Given the description of an element on the screen output the (x, y) to click on. 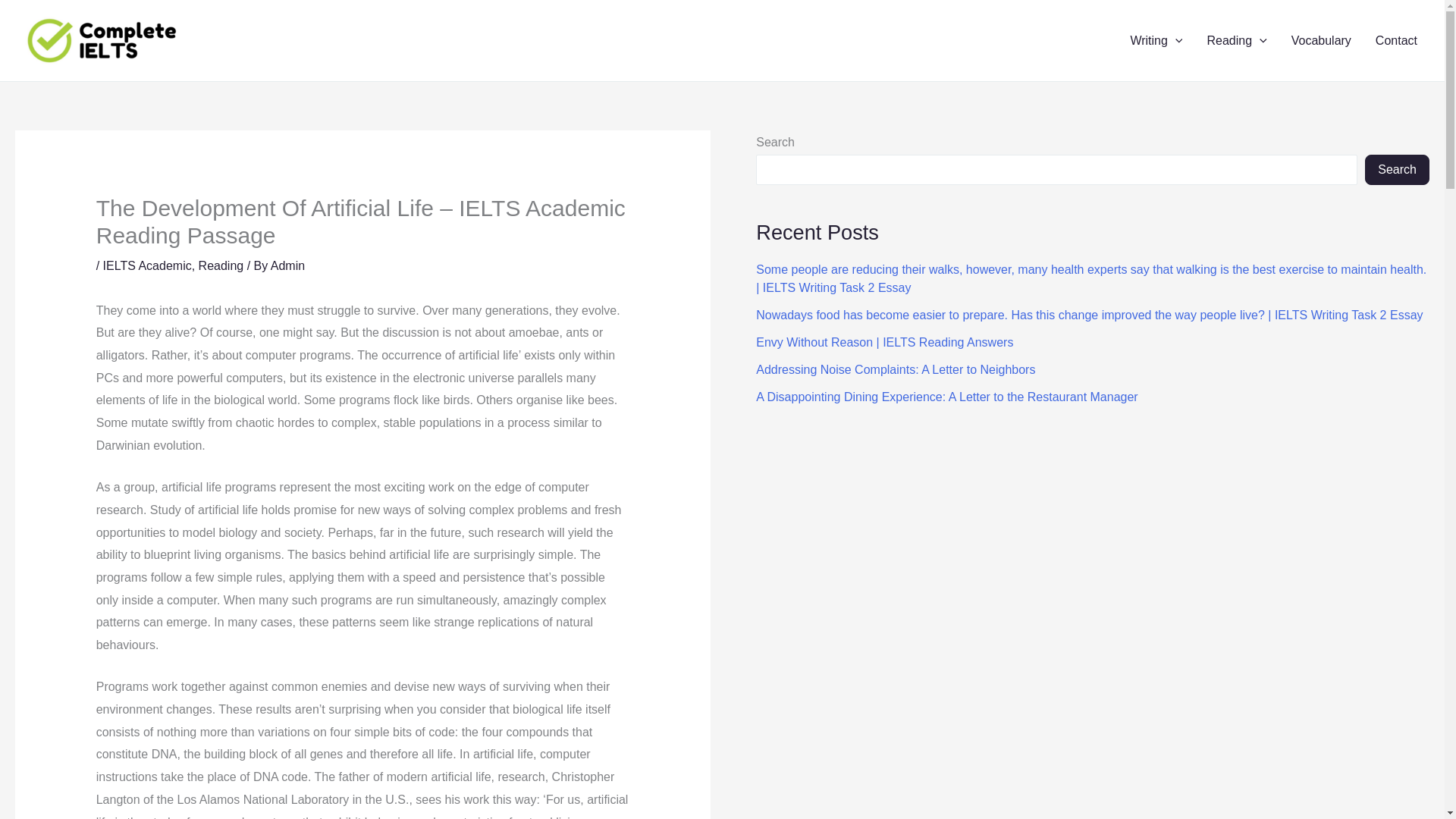
Writing (1155, 40)
View all posts by Admin (287, 265)
Vocabulary (1320, 40)
Admin (287, 265)
Addressing Noise Complaints: A Letter to Neighbors (895, 369)
Reading (221, 265)
IELTS Academic (147, 265)
Search (1397, 169)
Reading (1235, 40)
Contact (1395, 40)
